Given the description of an element on the screen output the (x, y) to click on. 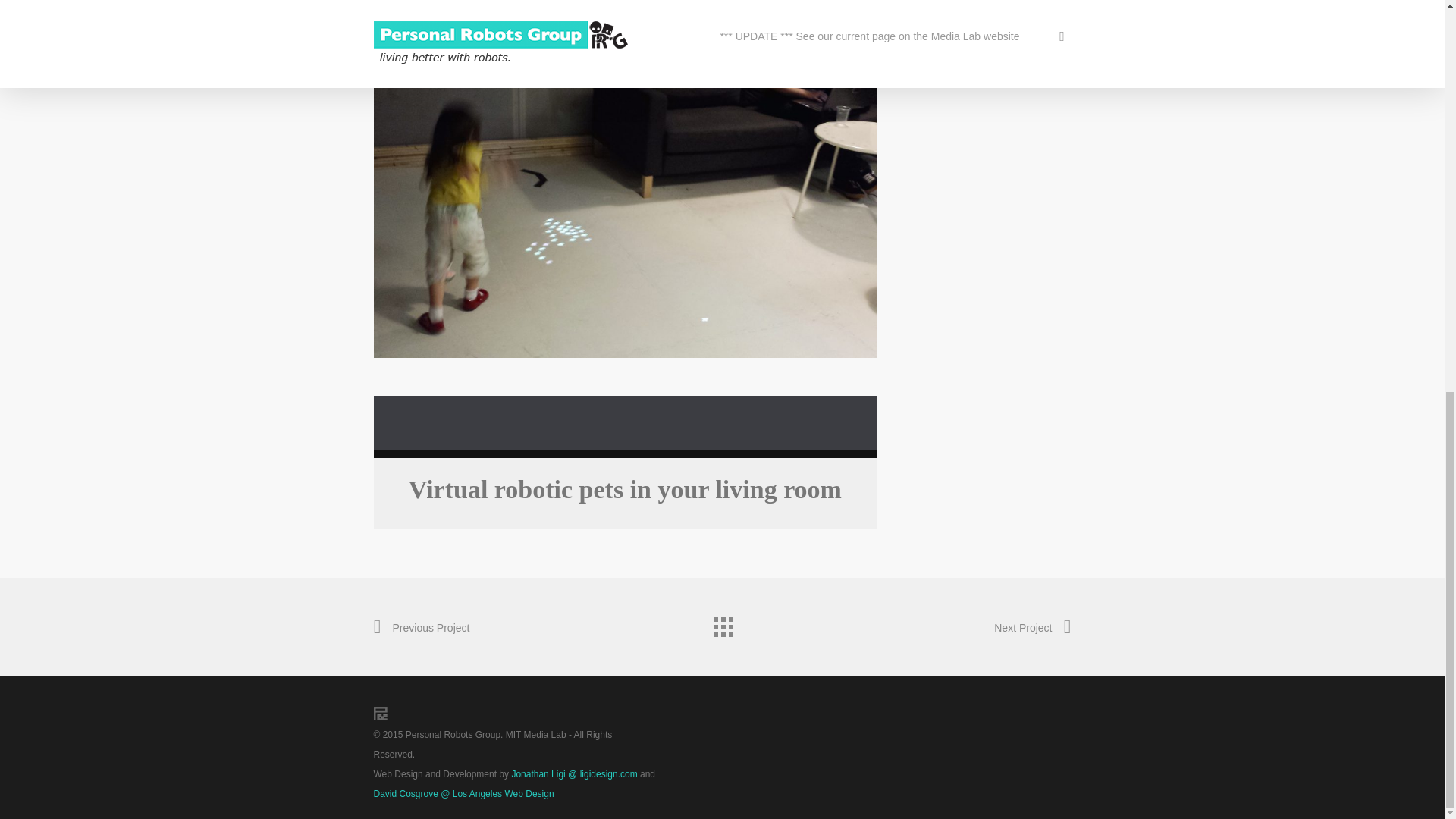
Previous Project (420, 627)
Back to all projects (721, 623)
Next Project (1032, 627)
Playtime Computing (971, 24)
